Given the description of an element on the screen output the (x, y) to click on. 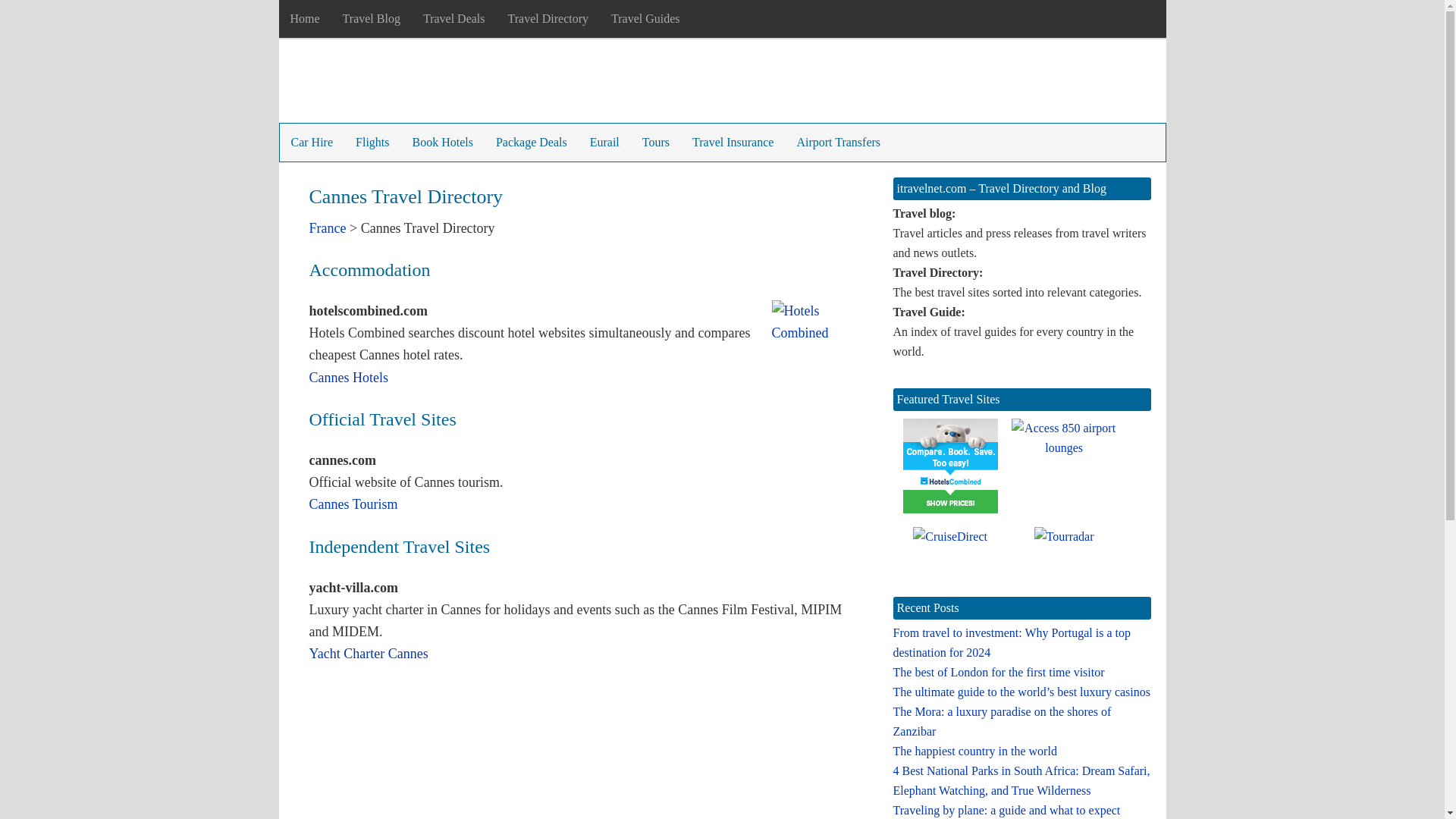
Travel Deals (454, 18)
Travel Insurance (732, 142)
Flights (371, 142)
Book Hotels (441, 142)
Cannes Hotels (348, 377)
Car Hire (311, 142)
Airport Transfers (837, 142)
France (327, 227)
itravelnet.com (396, 84)
The happiest country in the world (975, 750)
